Given the description of an element on the screen output the (x, y) to click on. 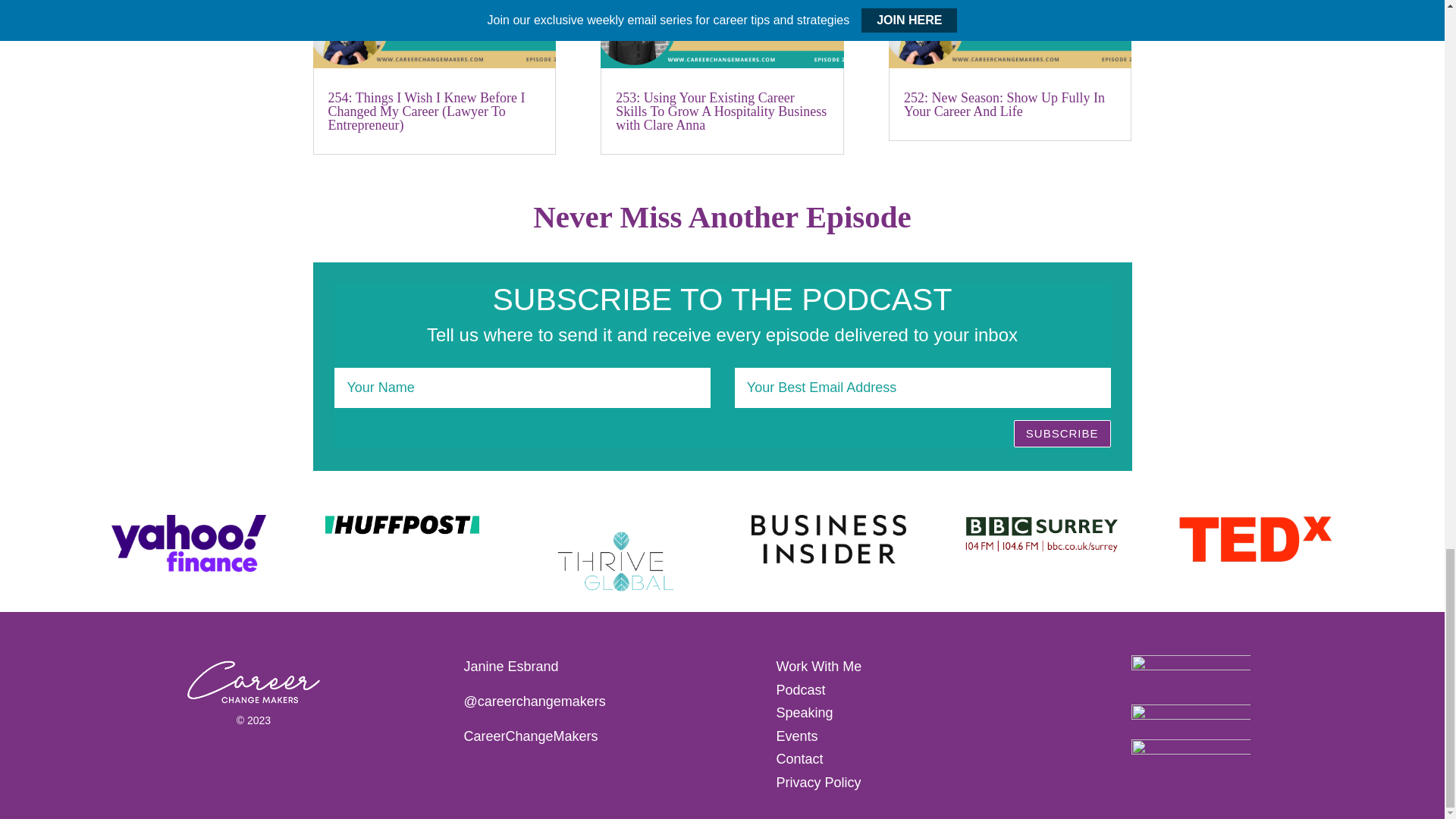
listen-on-Stitcher-badge (1190, 756)
252: New Season: Show Up Fully In Your Career And Life (1004, 104)
Privacy Policy (818, 782)
spotify-logo-png-file-spotify-badge-large-png-1280 (1190, 676)
Careers-03 (253, 683)
SUBSCRIBE (1061, 433)
